Given the description of an element on the screen output the (x, y) to click on. 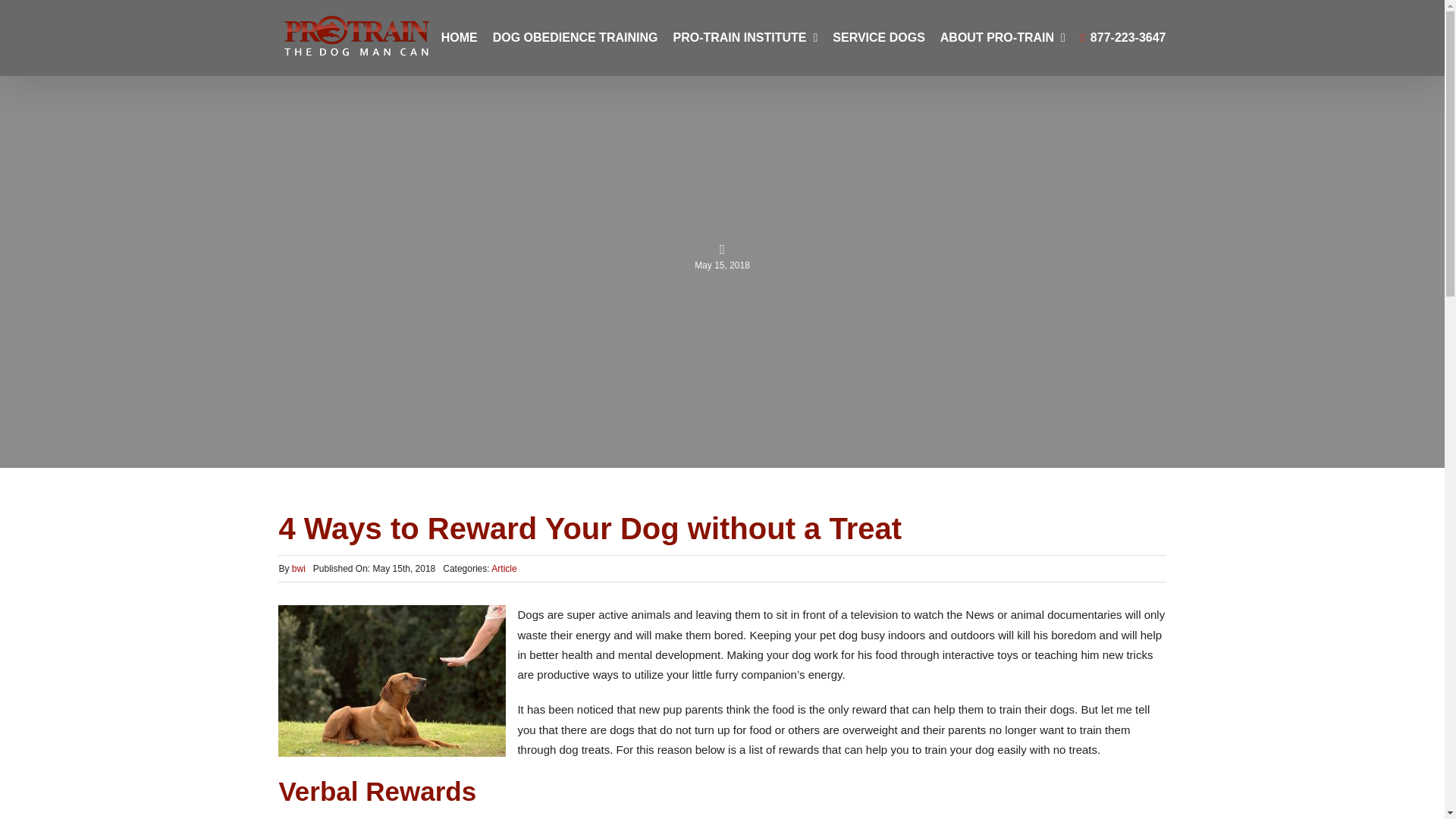
PRO-TRAIN INSTITUTE (744, 38)
Posts by bwi (298, 568)
877-223-3647 (1123, 38)
DOG OBEDIENCE TRAINING (575, 38)
ABOUT PRO-TRAIN (1002, 38)
SERVICE DOGS (878, 38)
